Given the description of an element on the screen output the (x, y) to click on. 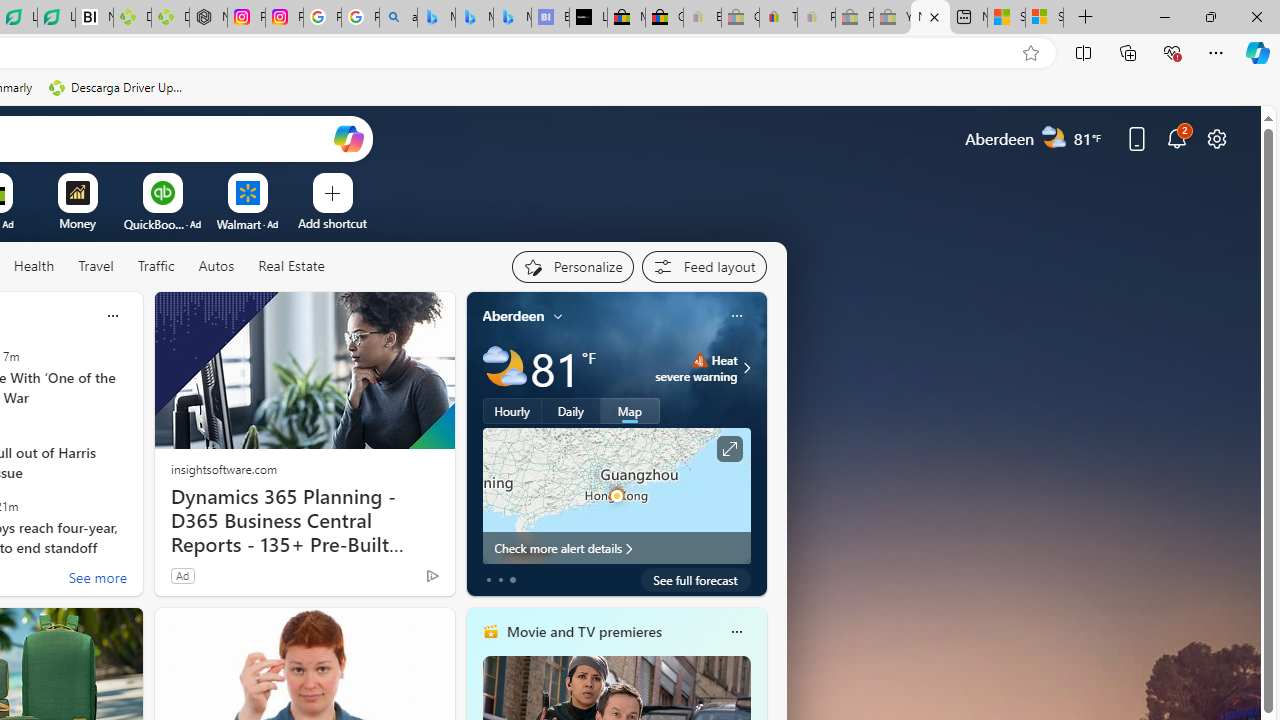
Larger map  (616, 495)
Autos (216, 267)
Real Estate (290, 267)
Partly cloudy (504, 368)
Page settings (1216, 138)
Real Estate (291, 265)
